Given the description of an element on the screen output the (x, y) to click on. 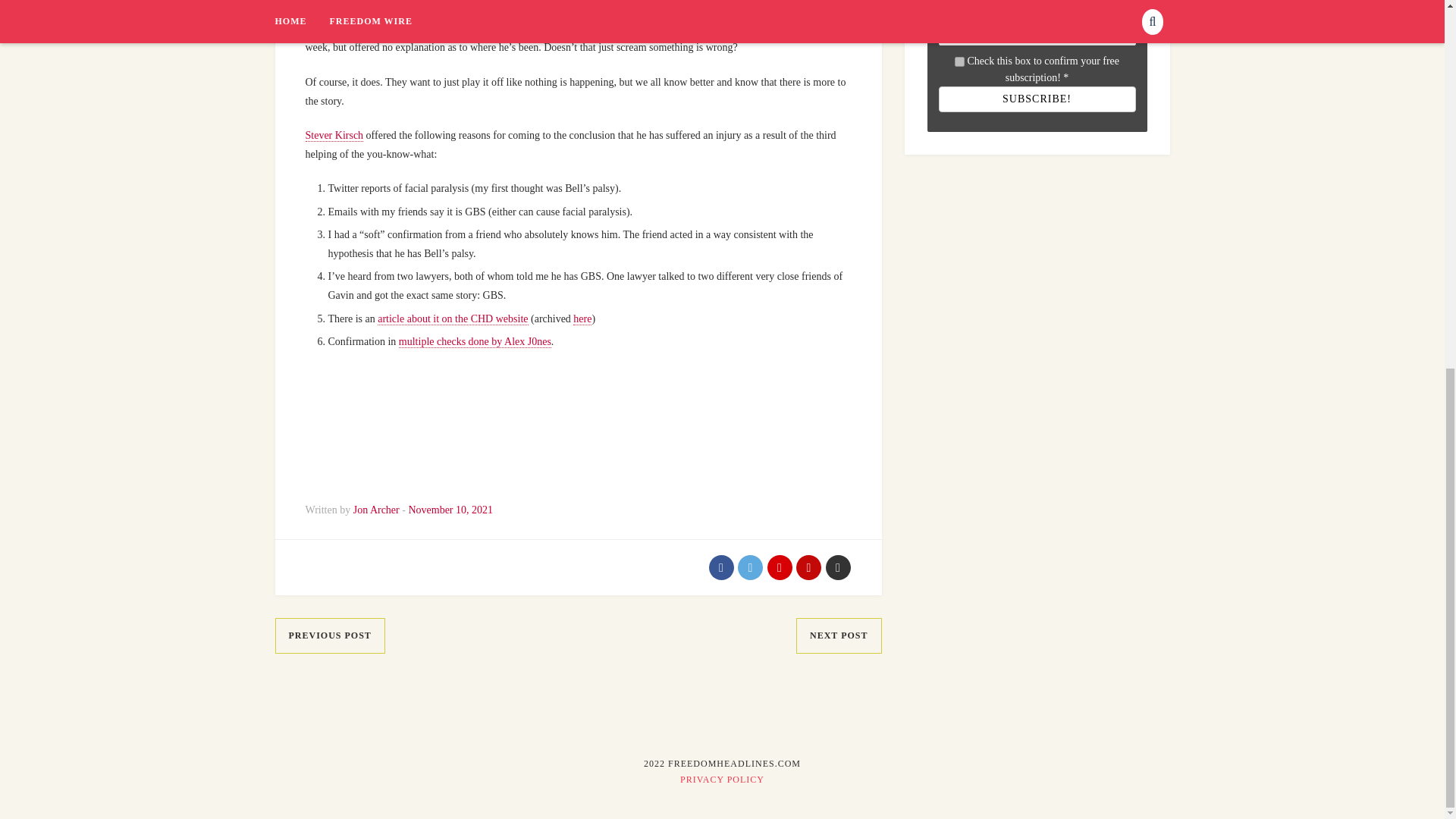
SUBSCRIBE! (1037, 99)
PRIVACY POLICY (721, 778)
NEXT POST (838, 635)
Stever Kirsch (333, 135)
1 (959, 61)
here (582, 318)
article about it on the CHD website (452, 318)
PREVIOUS POST (329, 635)
multiple checks done by Alex J0nes (474, 341)
